Given the description of an element on the screen output the (x, y) to click on. 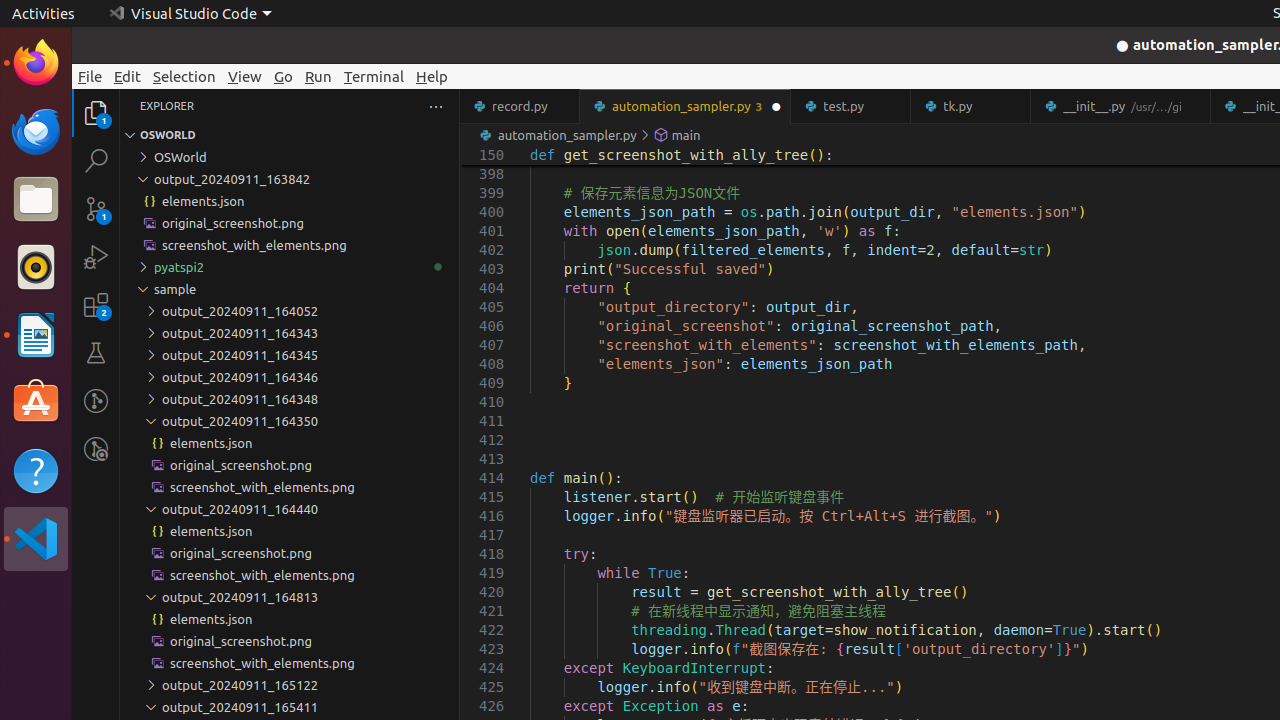
output_20240911_164813 Element type: tree-item (289, 597)
output_20240911_164052 Element type: tree-item (289, 311)
output_20240911_165411 Element type: tree-item (289, 707)
output_20240911_164440 Element type: tree-item (289, 509)
